Given the description of an element on the screen output the (x, y) to click on. 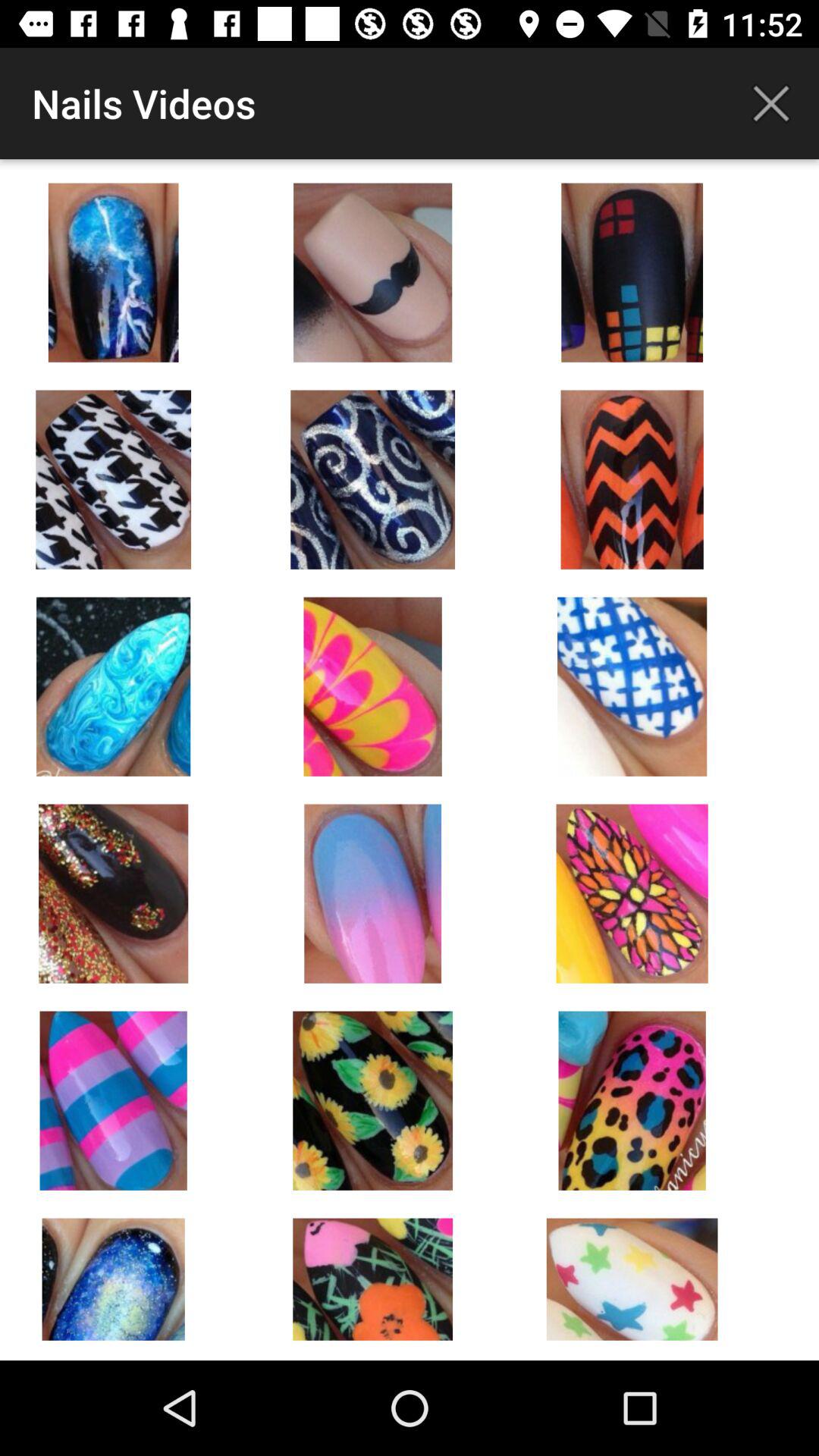
tap app next to nails videos icon (771, 103)
